Given the description of an element on the screen output the (x, y) to click on. 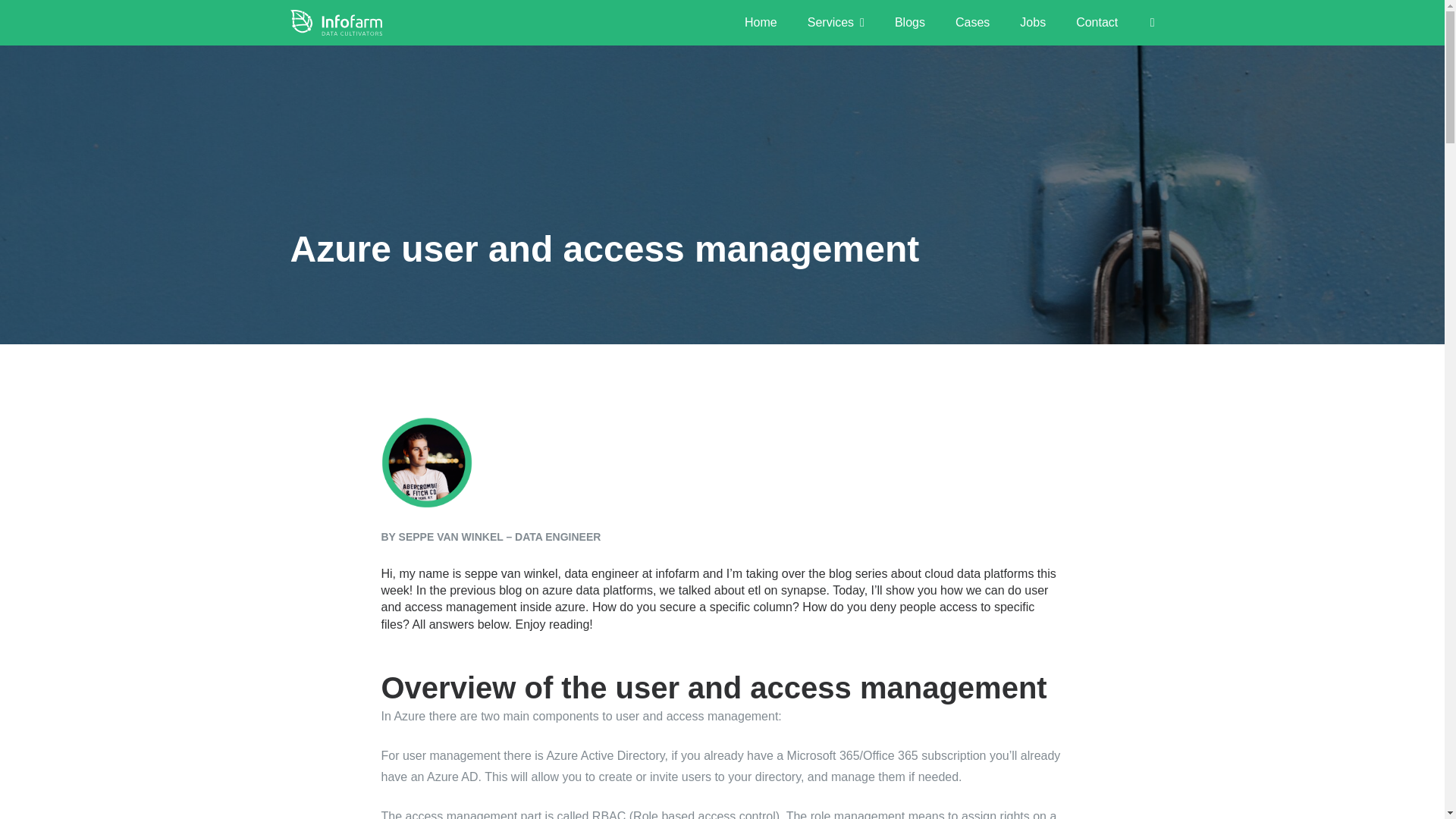
Home (760, 22)
Contact (1096, 22)
Jobs (1032, 22)
Blogs (909, 22)
Services (835, 22)
Cases (972, 22)
previous blog (485, 590)
